Given the description of an element on the screen output the (x, y) to click on. 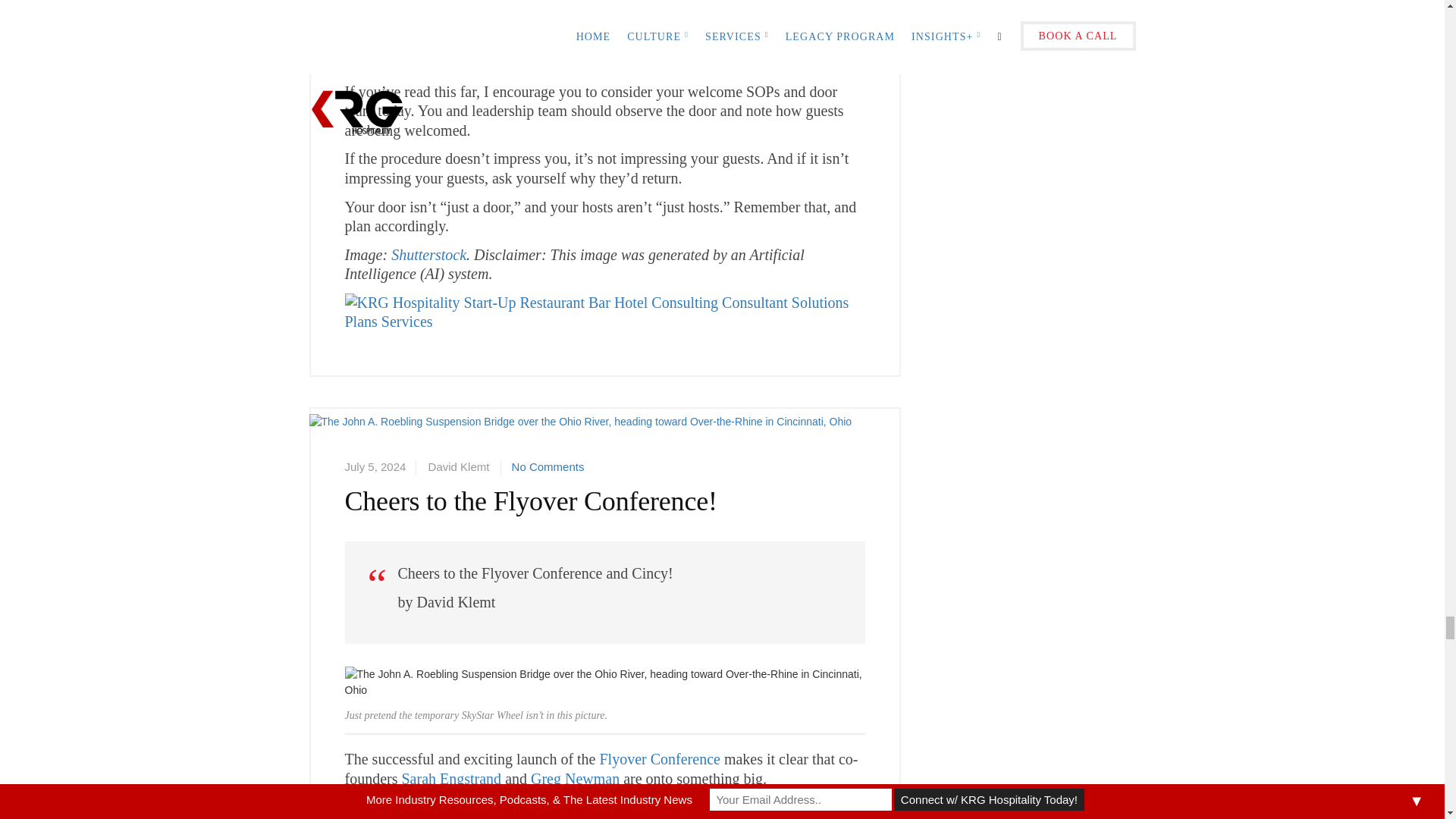
Cheers to the Flyover Conference! (579, 450)
